Given the description of an element on the screen output the (x, y) to click on. 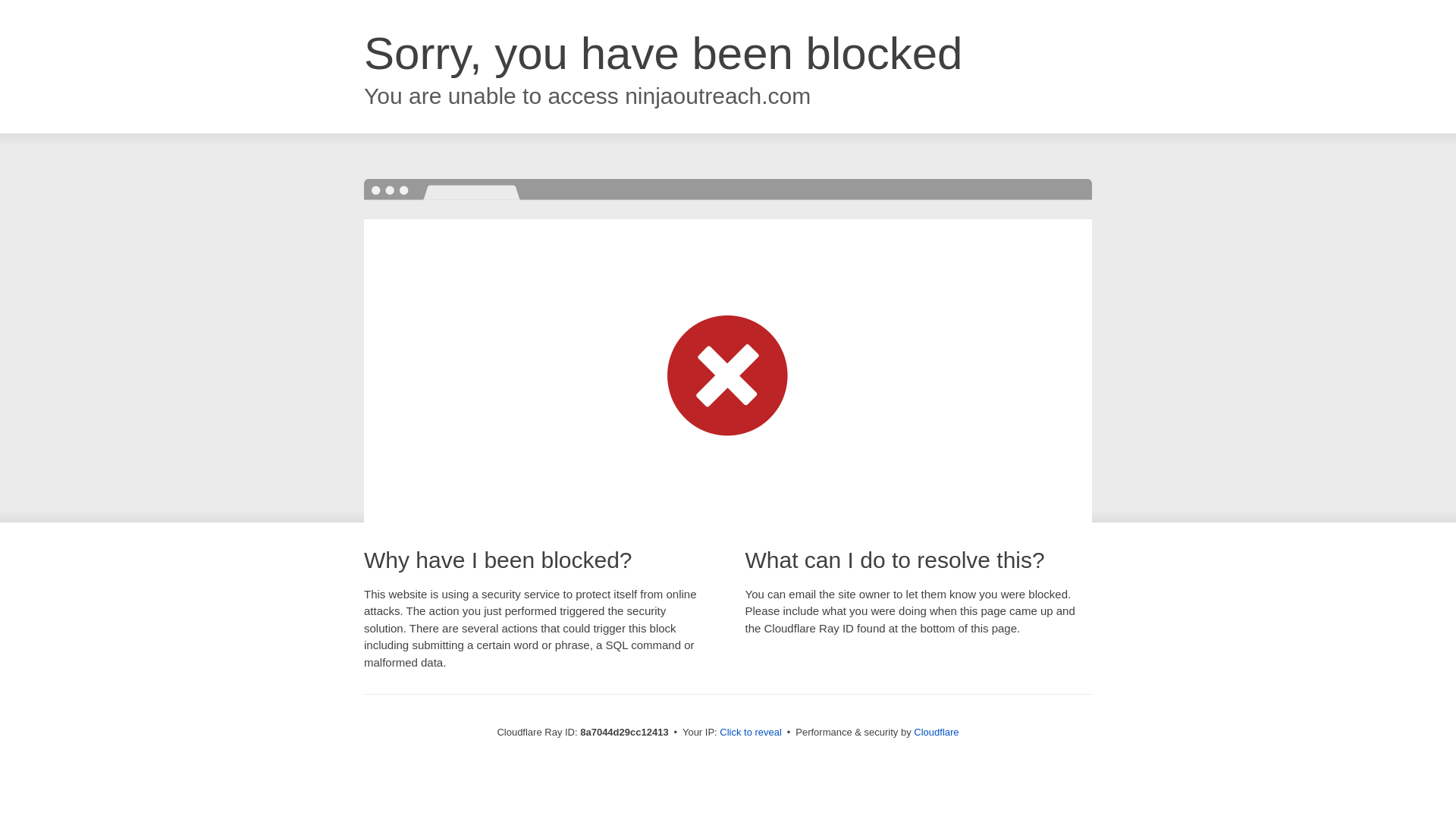
Click to reveal (750, 732)
Cloudflare (936, 731)
